Given the description of an element on the screen output the (x, y) to click on. 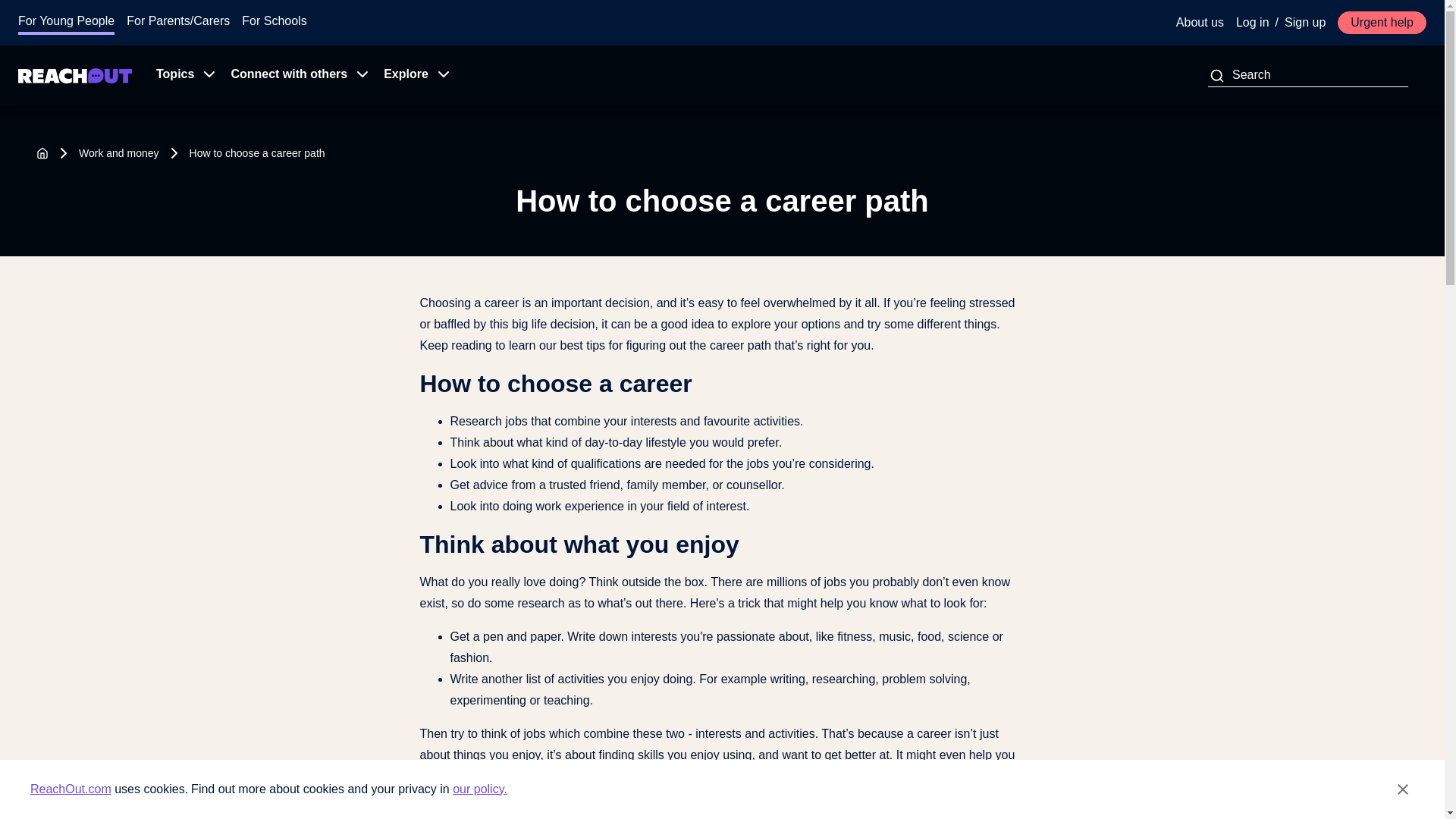
For Schools (273, 20)
Urgent help (1382, 22)
Explore (411, 75)
Connect with others (294, 75)
Sign up (1304, 22)
About us (1200, 22)
Topics (181, 75)
Log in (1252, 22)
Work and money (118, 152)
For Young People (66, 20)
